Given the description of an element on the screen output the (x, y) to click on. 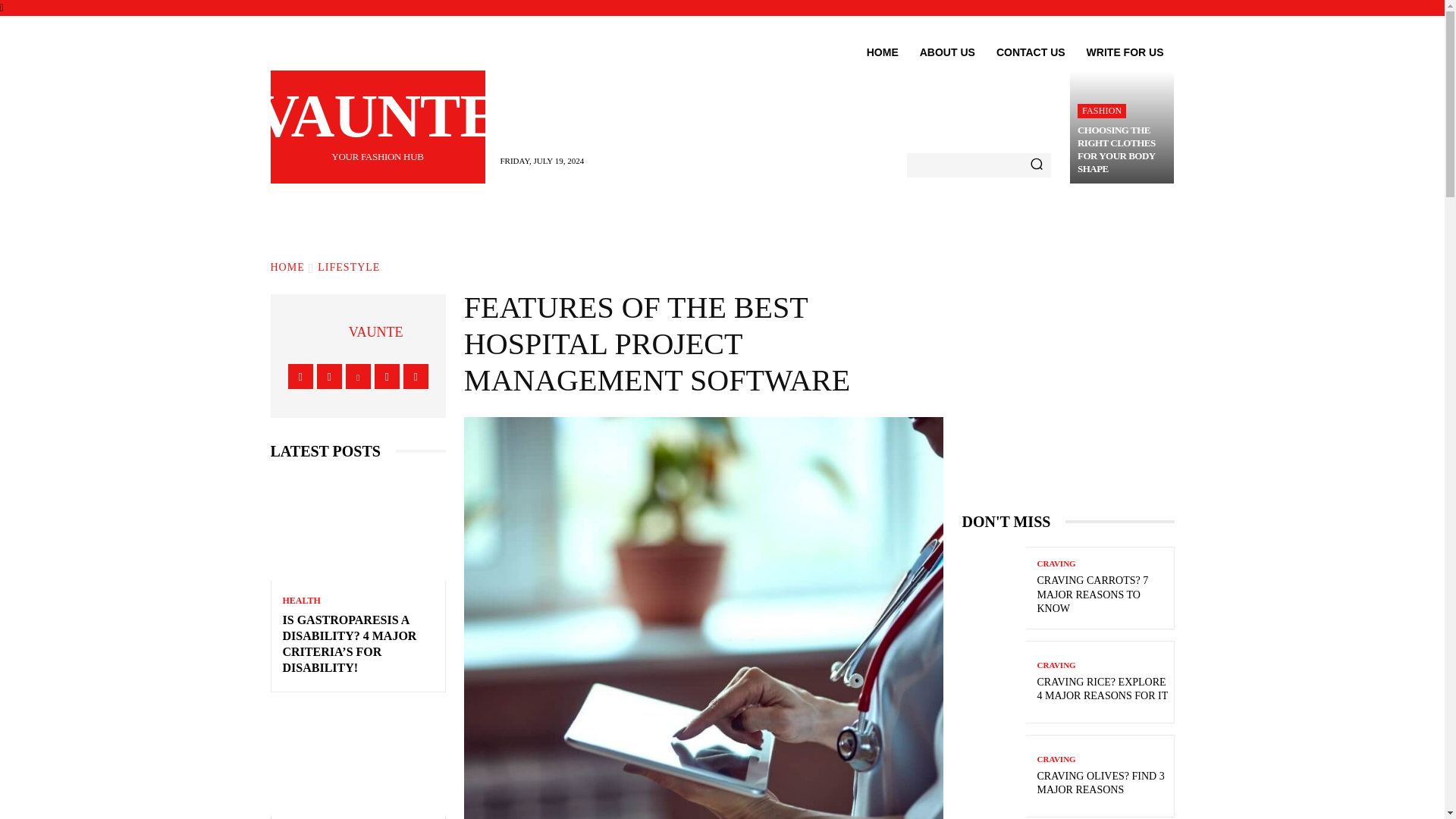
HOME (882, 52)
ABOUT US (946, 52)
CHOOSING THE RIGHT CLOTHES FOR YOUR BODY SHAPE (1116, 149)
FASHION (376, 126)
Choosing The Right Clothes for Your Body Shape (1101, 110)
CONTACT US (1116, 149)
Choosing The Right Clothes for Your Body Shape (1030, 52)
WRITE FOR US (1122, 127)
